Given the description of an element on the screen output the (x, y) to click on. 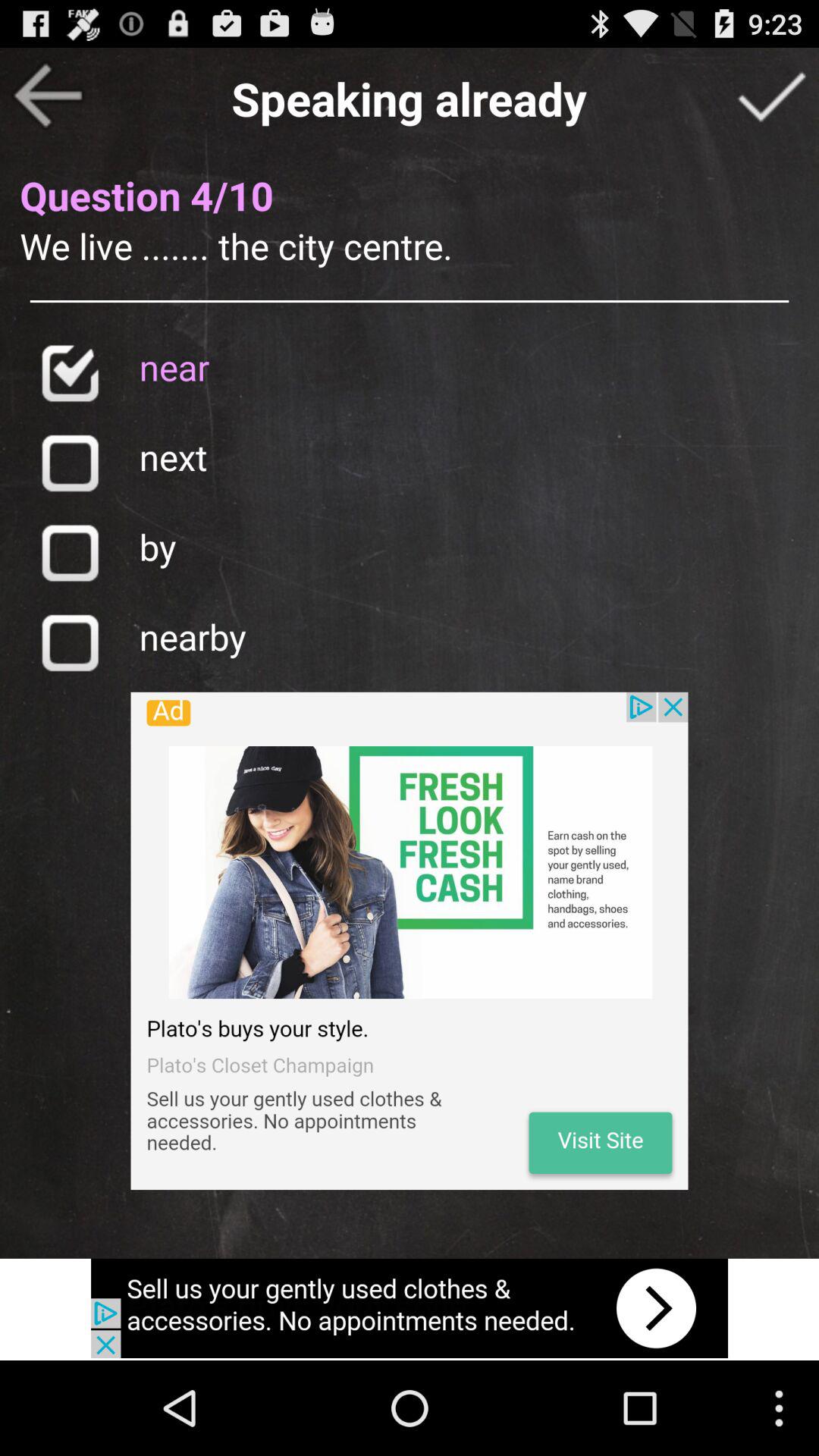
show advertisements (409, 940)
